Given the description of an element on the screen output the (x, y) to click on. 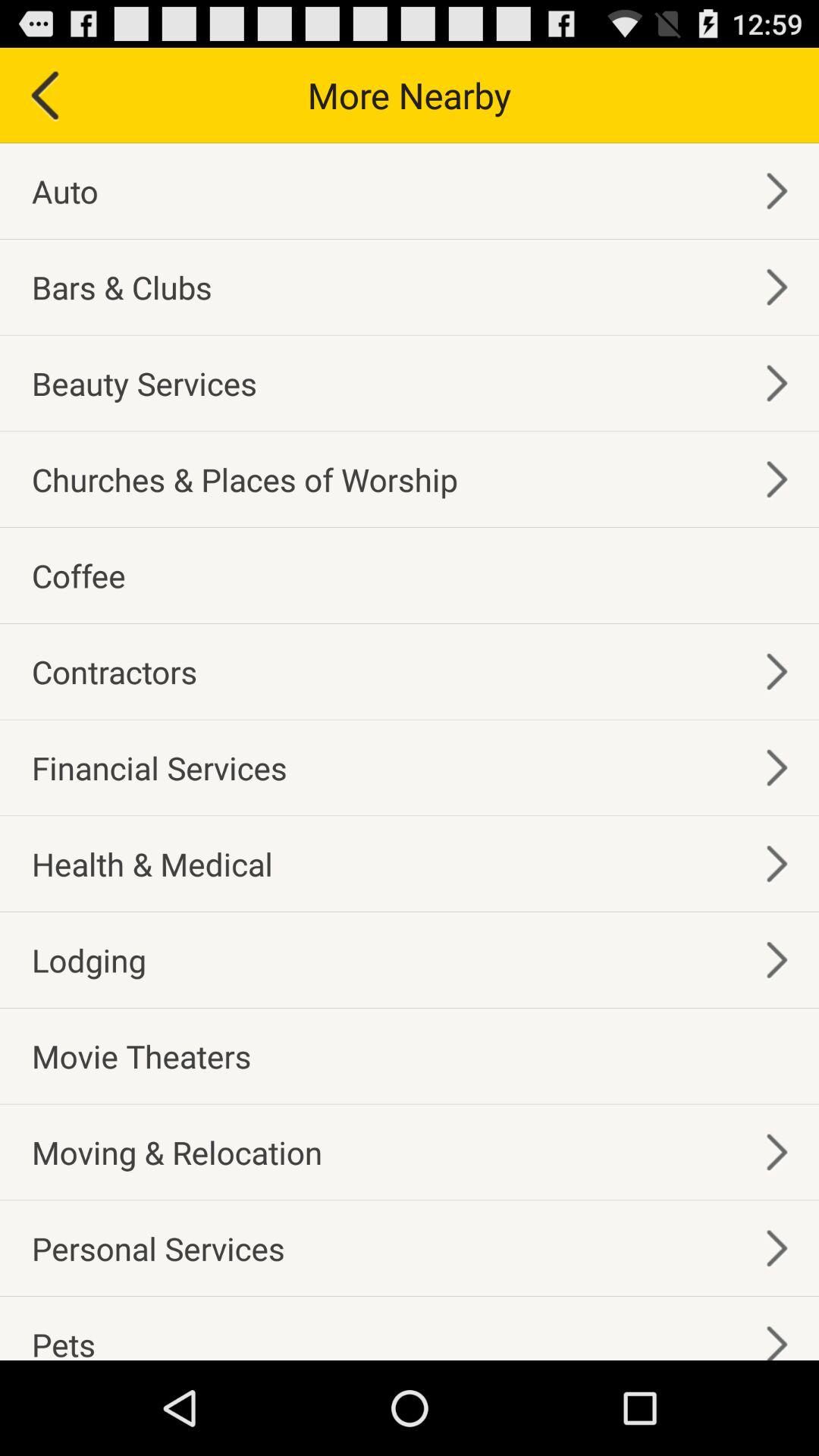
scroll to the moving & relocation icon (176, 1151)
